Given the description of an element on the screen output the (x, y) to click on. 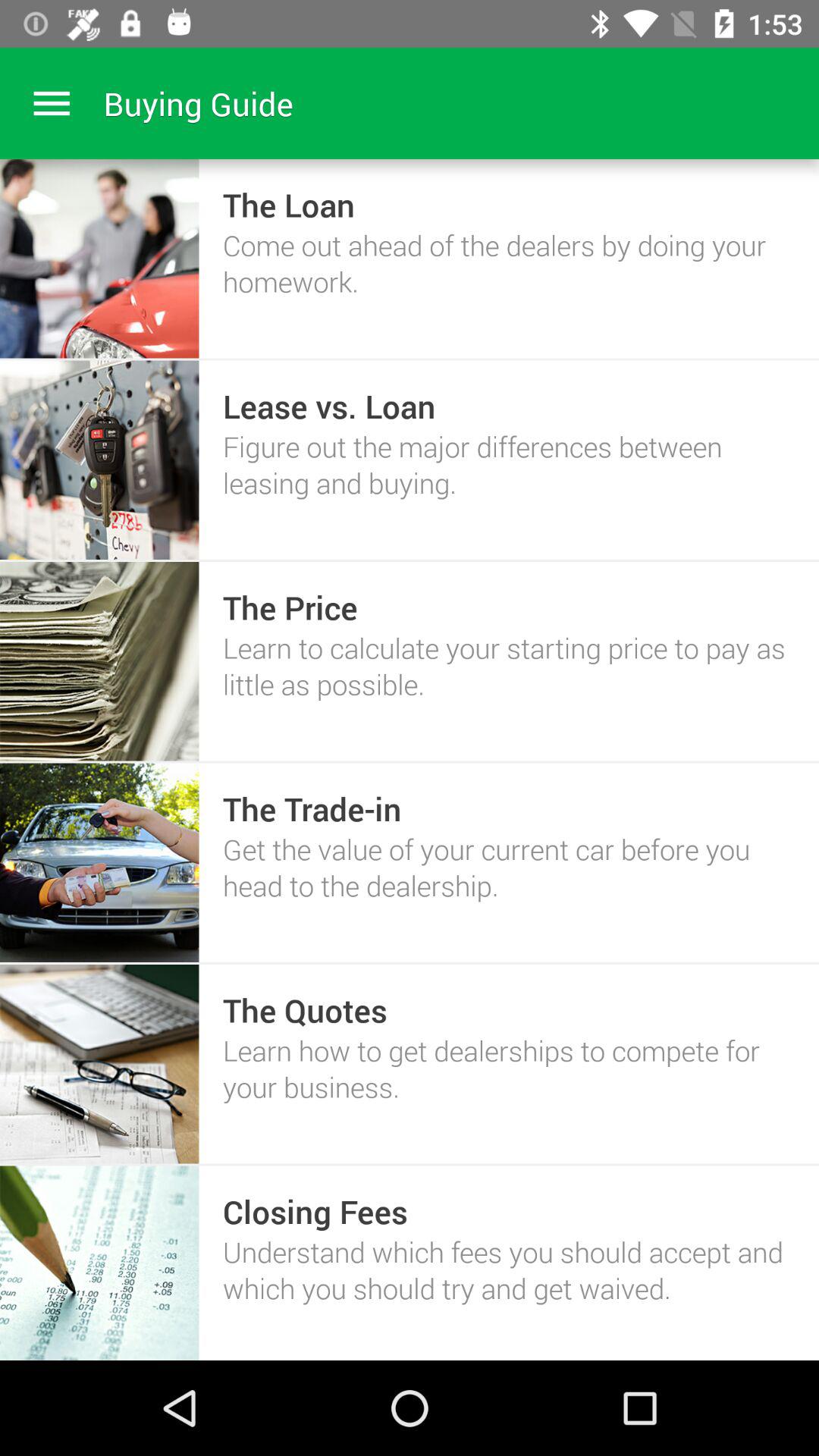
turn on the icon below the the loan item (508, 263)
